Given the description of an element on the screen output the (x, y) to click on. 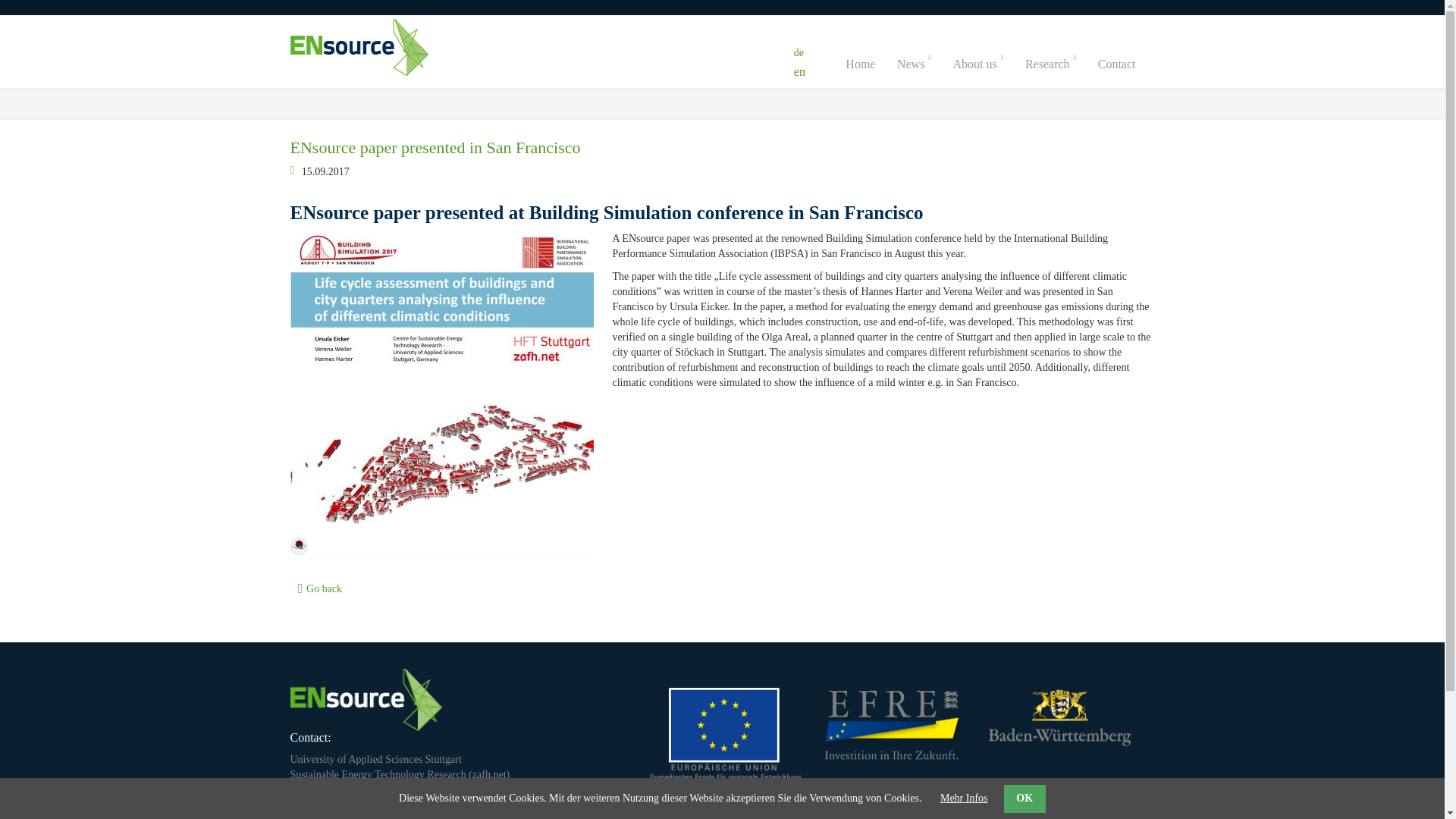
project - research (1059, 64)
Mehr Infos (964, 797)
Home (869, 64)
ENsource (314, 804)
Contact (1125, 64)
contact (1125, 64)
News (923, 64)
Go back (323, 588)
OK (1024, 798)
zafh.net (488, 774)
Research (1059, 64)
Mehr Infos (964, 797)
ENsource (869, 64)
News (923, 64)
About us (988, 64)
